Given the description of an element on the screen output the (x, y) to click on. 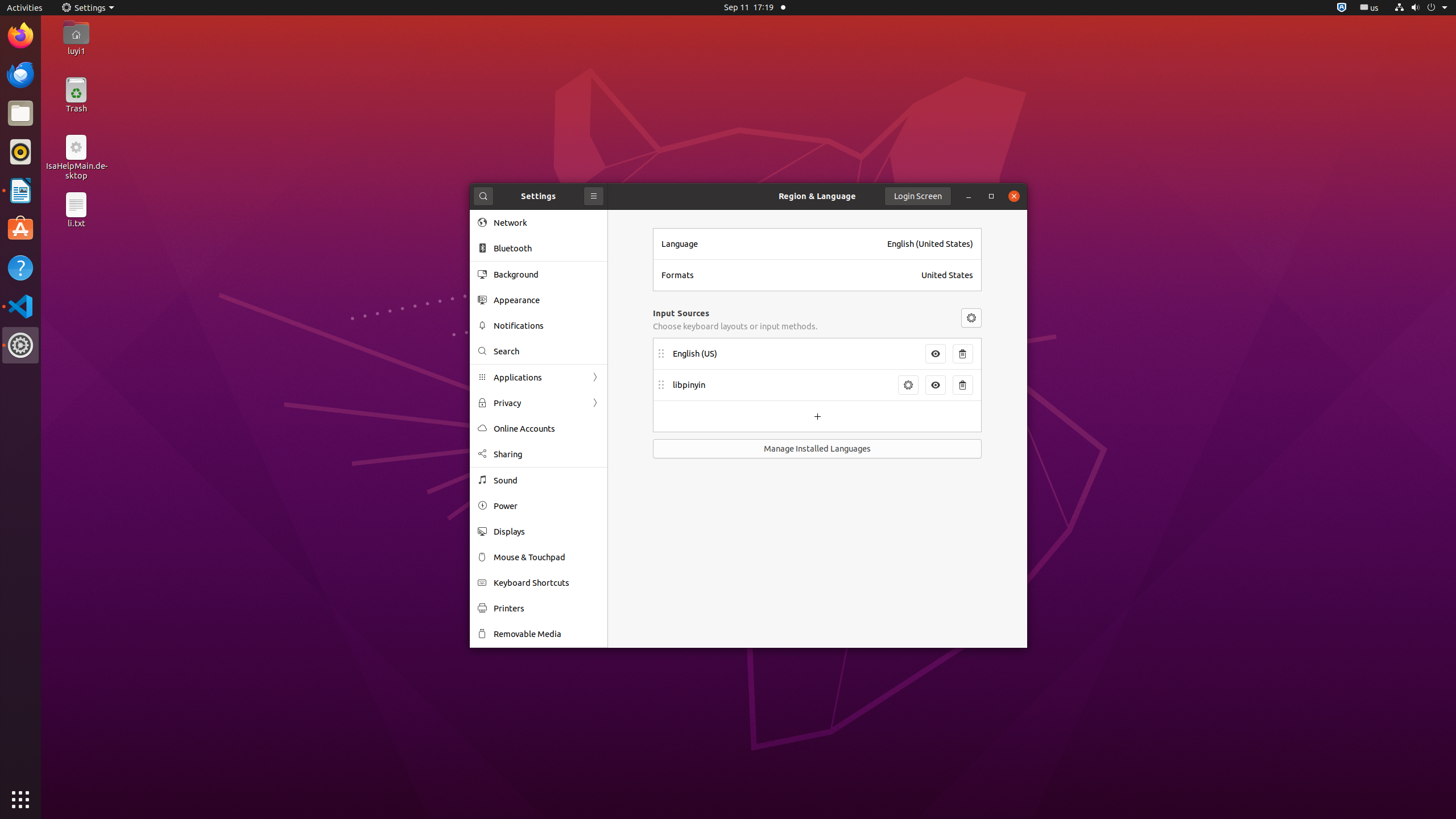
Displays Element type: label (546, 531)
Primary Menu Element type: toggle-button (593, 196)
Search Element type: label (546, 351)
Language Element type: label (770, 243)
Close Element type: push-button (1013, 195)
